Given the description of an element on the screen output the (x, y) to click on. 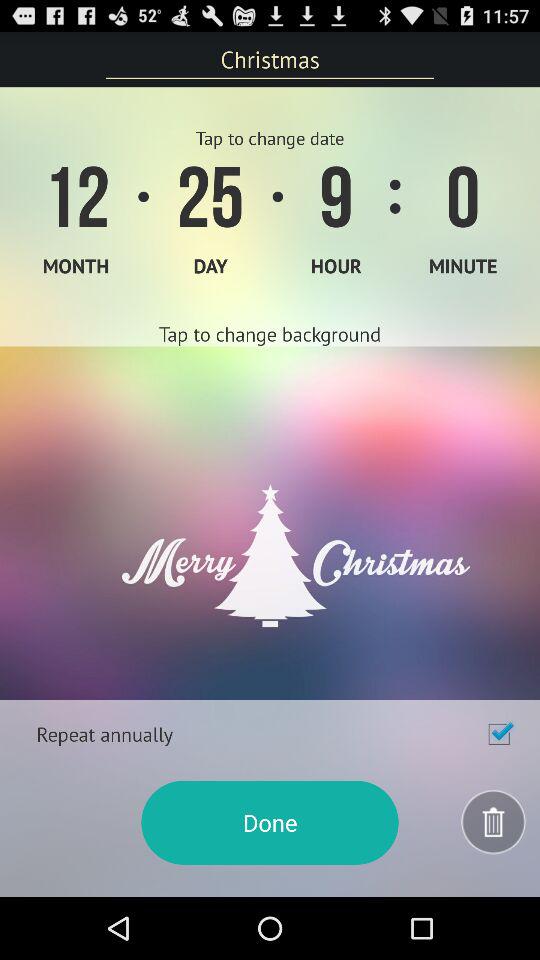
will repeat annually (499, 734)
